Given the description of an element on the screen output the (x, y) to click on. 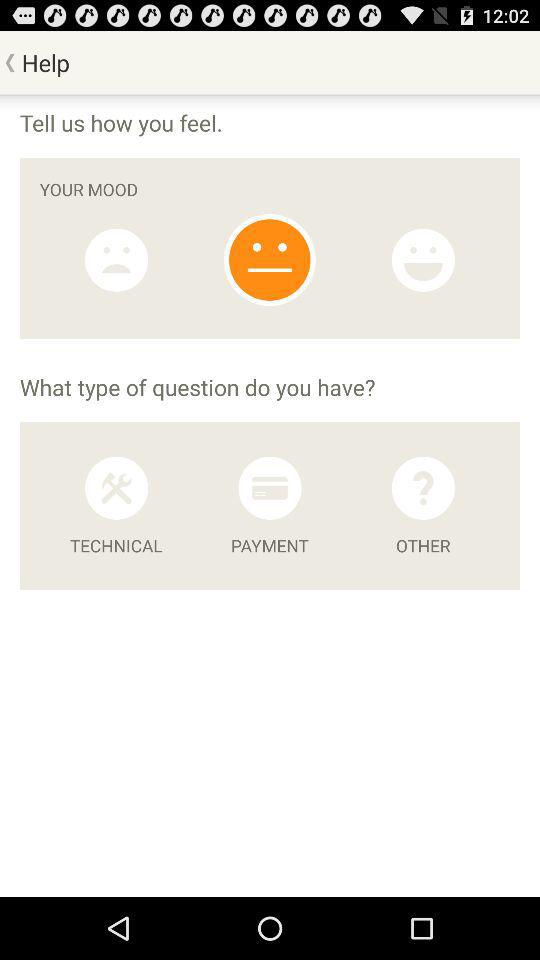
ask technical question (116, 488)
